Given the description of an element on the screen output the (x, y) to click on. 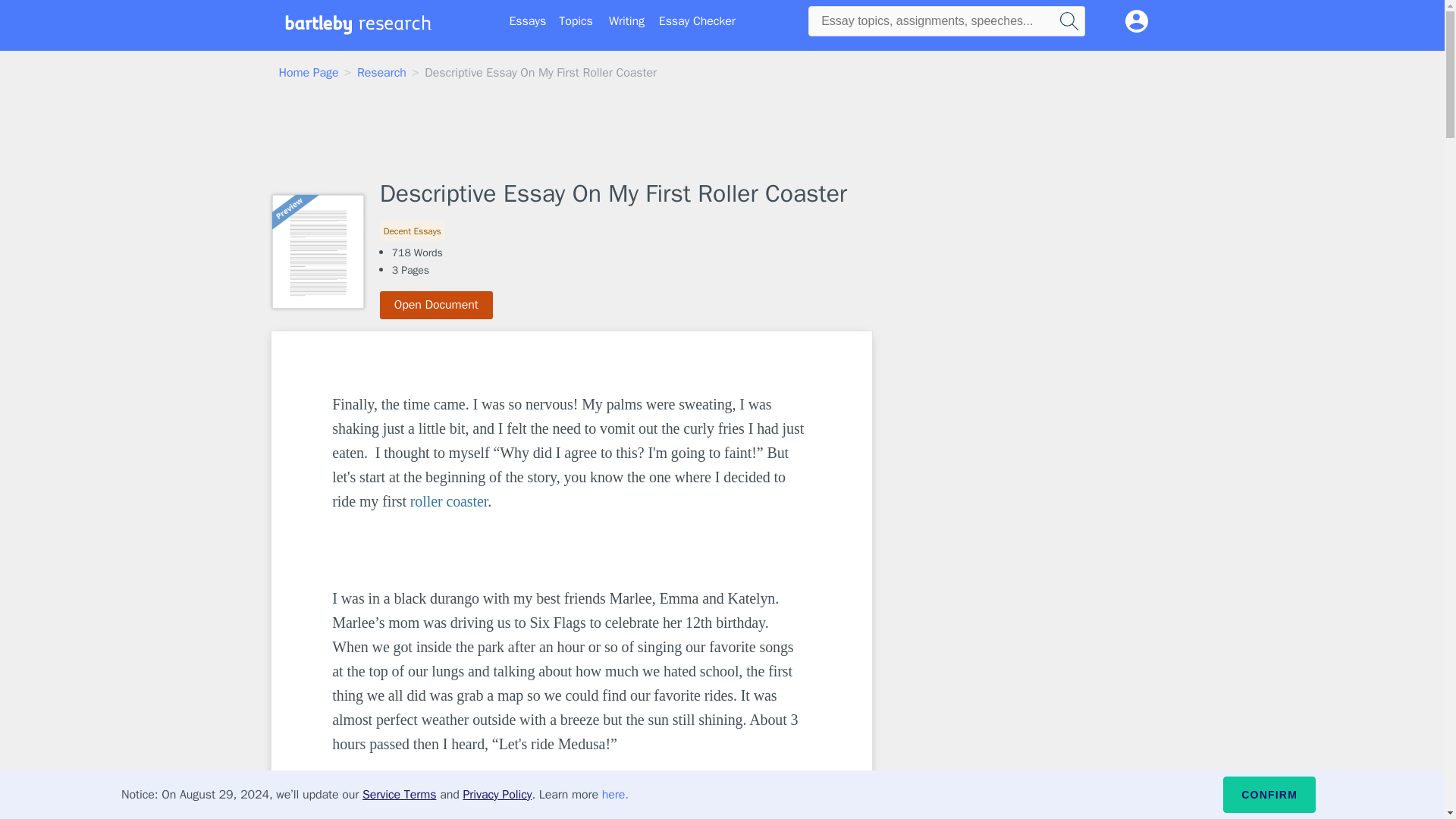
Topics (575, 20)
roller coaster (448, 501)
Open Document (436, 305)
Research (381, 72)
Essay Checker (697, 20)
Essays (528, 20)
Writing (626, 20)
Home Page (309, 72)
